Given the description of an element on the screen output the (x, y) to click on. 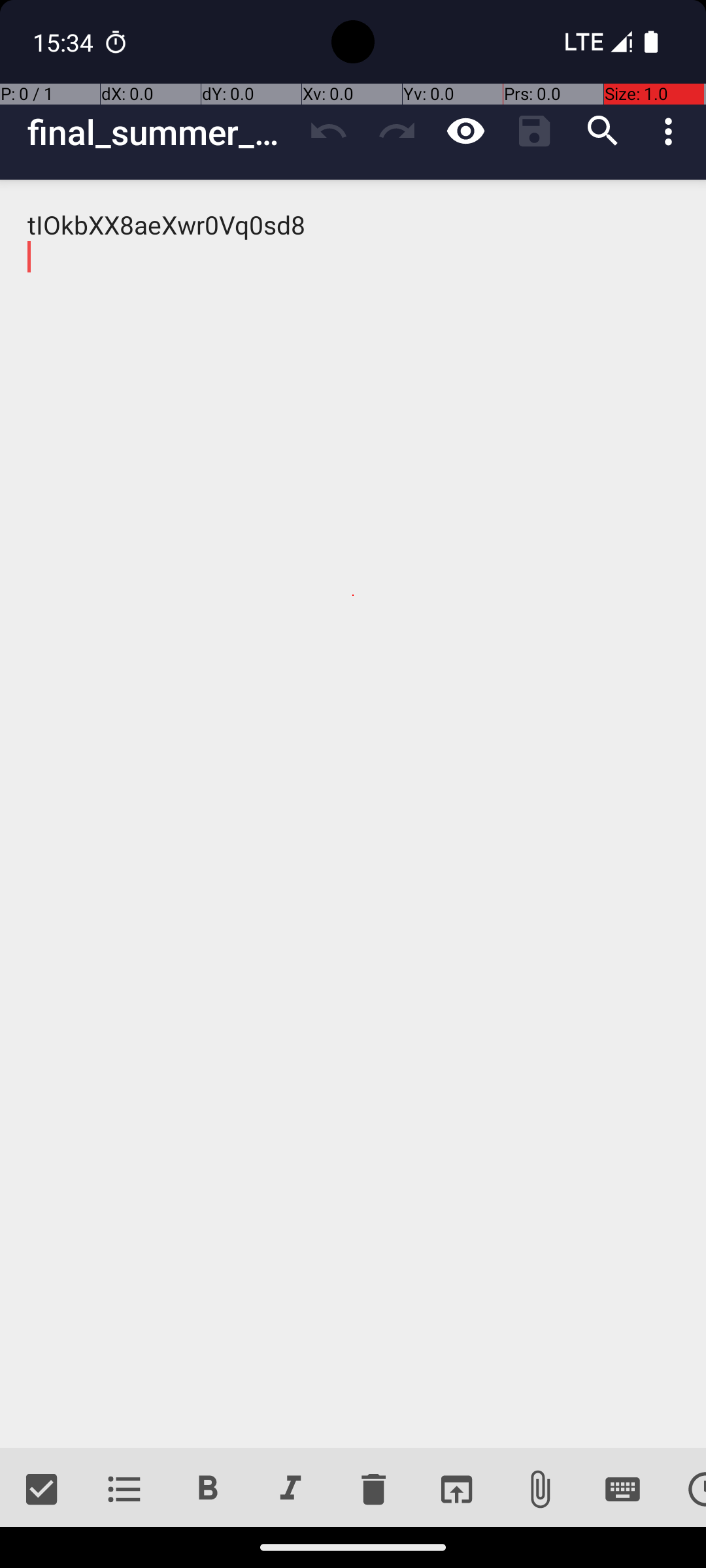
final_summer_vacation_plans Element type: android.widget.TextView (160, 131)
tIOkbXX8aeXwr0Vq0sd8
 Element type: android.widget.EditText (353, 813)
